Given the description of an element on the screen output the (x, y) to click on. 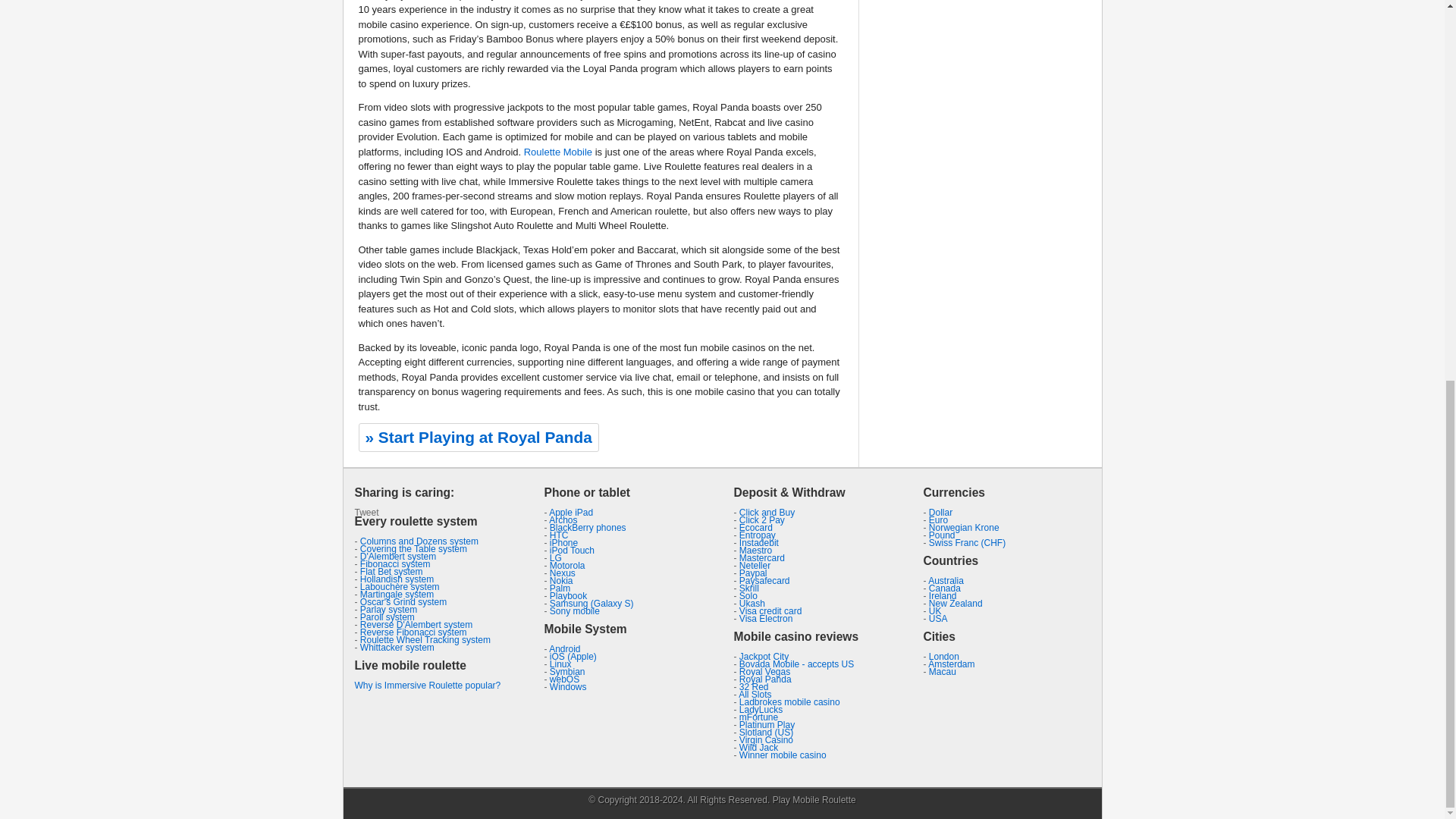
Reverse D'Alembert system (415, 624)
Parlay system (387, 609)
Nokia (561, 580)
Columns and Dozens system (419, 541)
LG (556, 557)
Motorola (567, 565)
Nexus (562, 573)
Roulette Mobile (558, 152)
Hollandish system (396, 579)
Flat Bet system (391, 571)
